Given the description of an element on the screen output the (x, y) to click on. 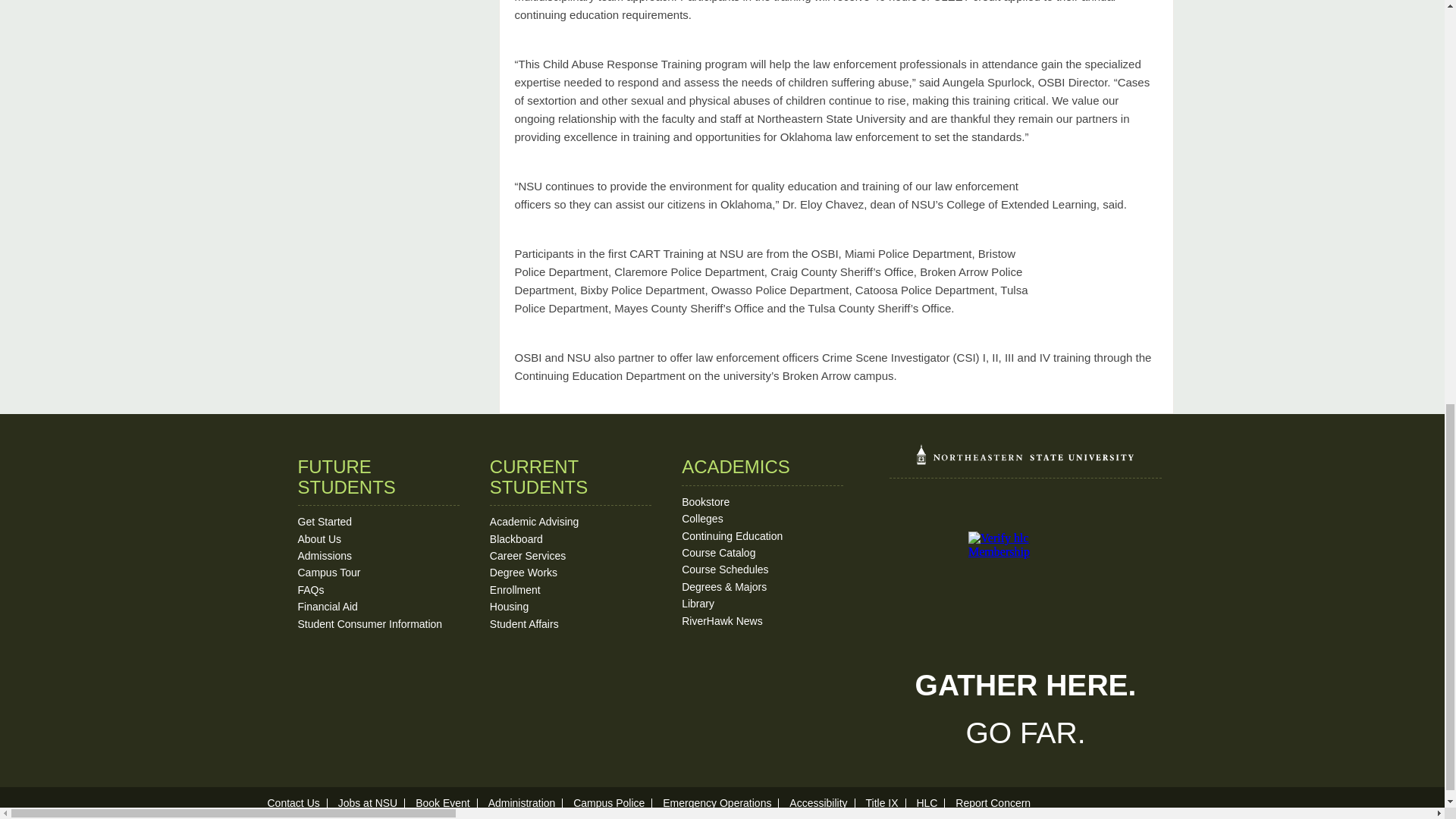
Student Consumer Information (369, 623)
Jobs at NSU (367, 802)
higher learning verification (1024, 653)
Future Students (324, 521)
FAQs (310, 589)
About Us (318, 539)
Admissions (324, 555)
Course Schedules (724, 569)
